Given the description of an element on the screen output the (x, y) to click on. 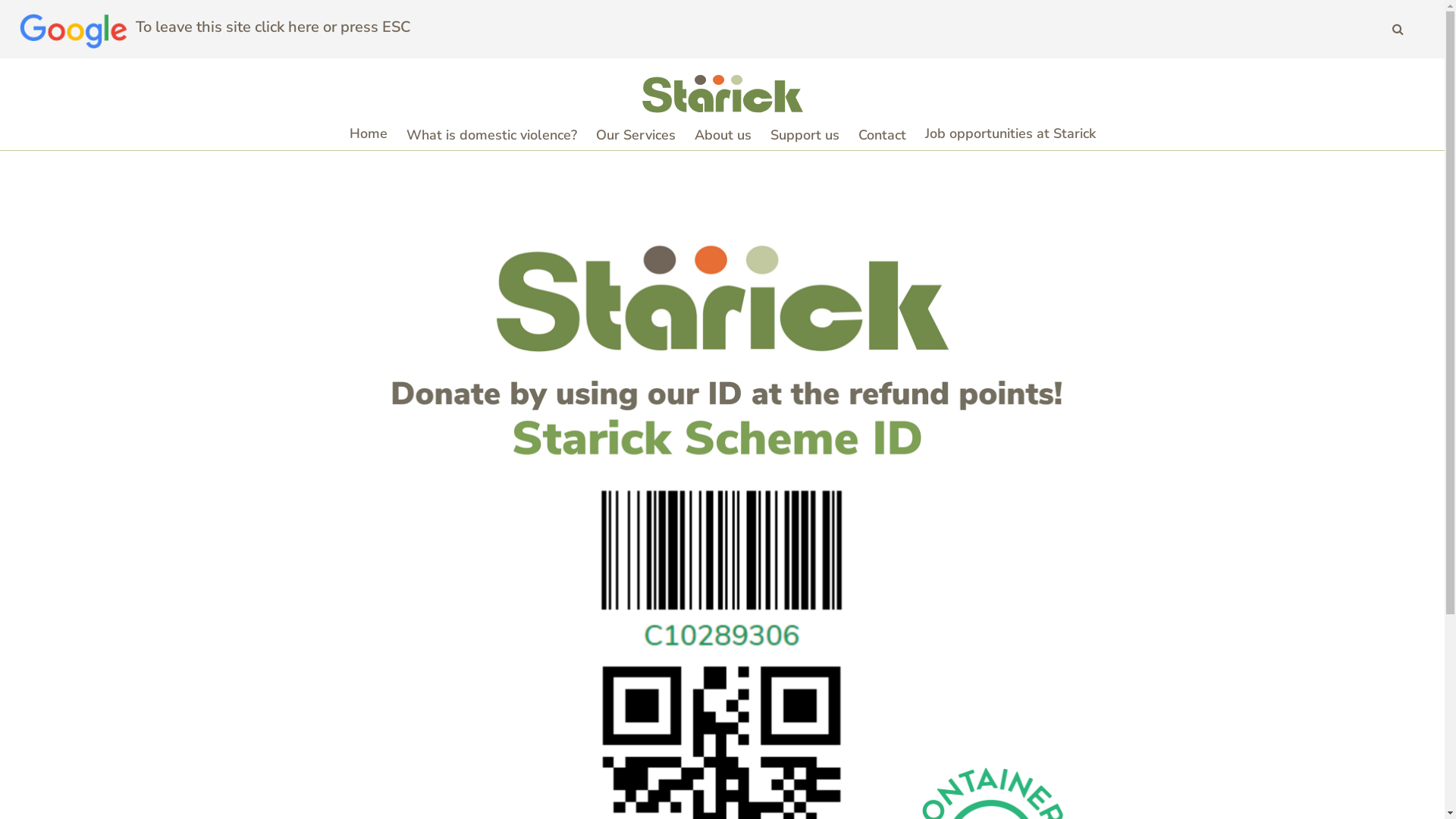
Starick Logo Element type: hover (722, 92)
Support us Element type: text (804, 134)
Our Services Element type: text (635, 134)
What is domestic violence? Element type: text (491, 134)
To leave this site click here or press ESC Element type: text (273, 26)
About us Element type: text (722, 134)
Home Element type: text (367, 135)
Contact Element type: text (882, 134)
Google Logo Element type: hover (73, 30)
Job opportunities at Starick Element type: text (1010, 135)
